Given the description of an element on the screen output the (x, y) to click on. 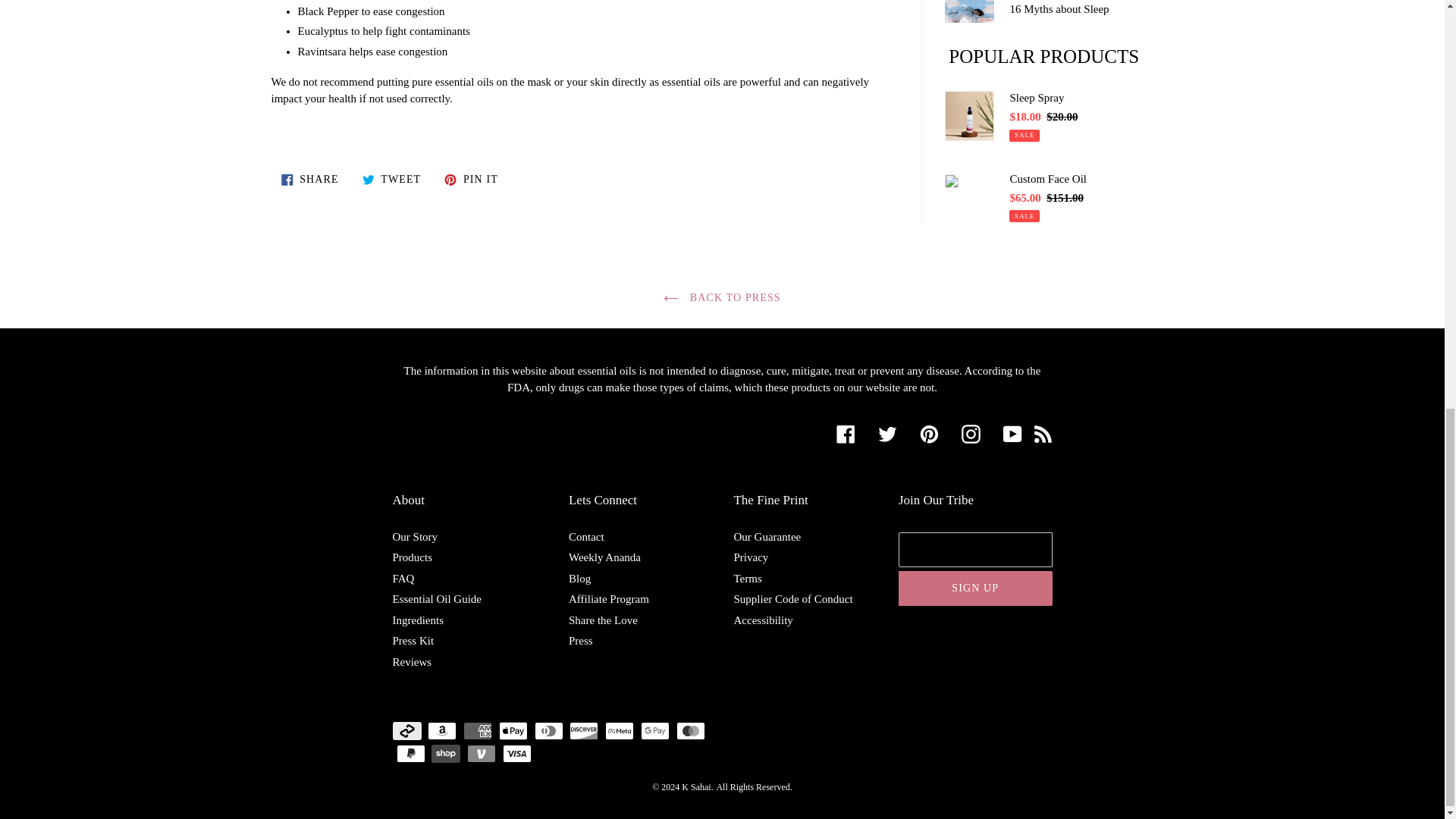
Discover (583, 730)
Amazon (391, 179)
Pinterest (442, 730)
Afterpay (927, 434)
American Express (407, 730)
Diners Club (477, 730)
Apple Pay (548, 730)
Meta Pay (513, 730)
